Given the description of an element on the screen output the (x, y) to click on. 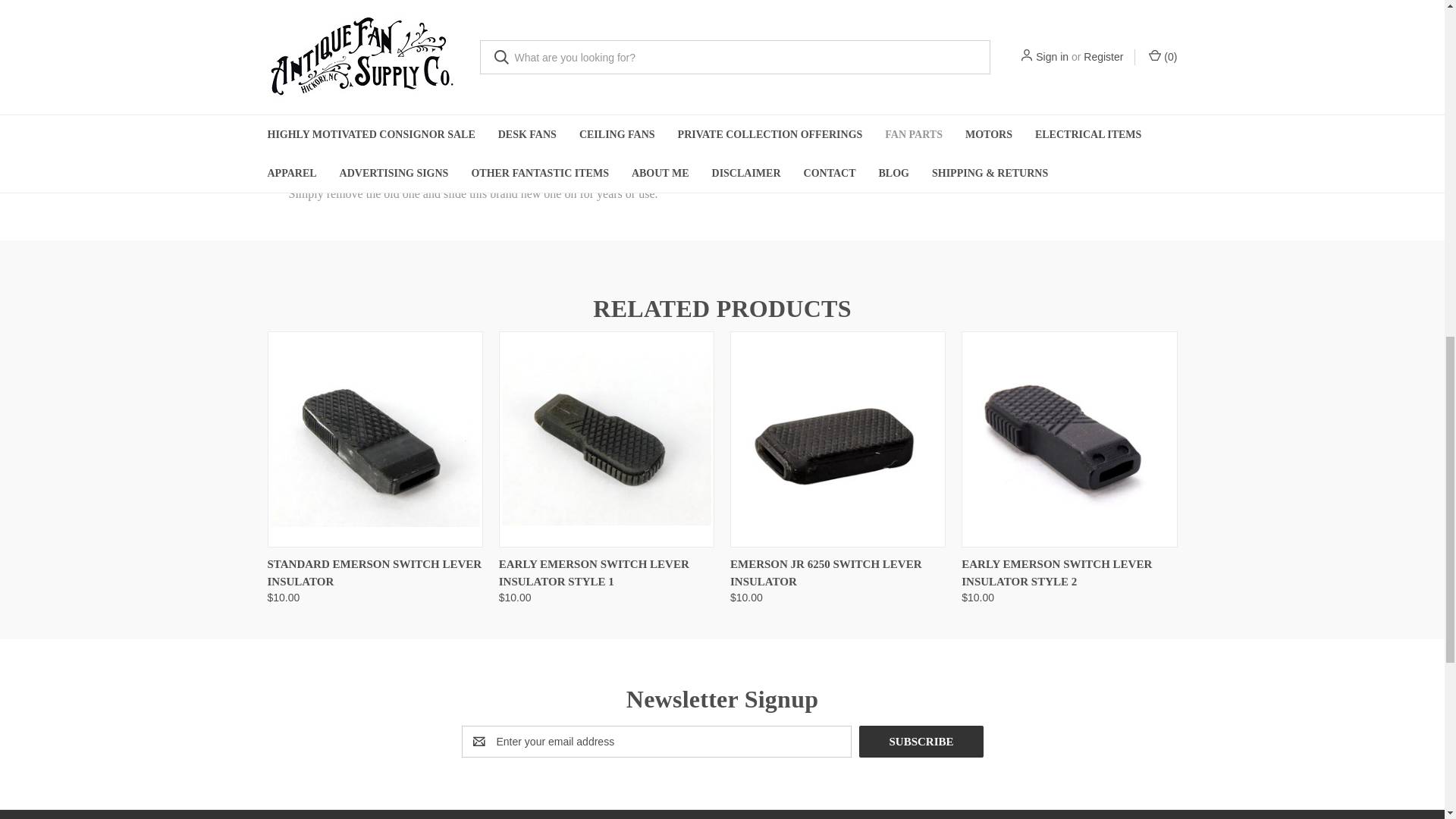
Early Emerson Switch Lever Insulator Style 1 (606, 439)
Standard Straight GE Switch Lever Insulator  (480, 32)
Early Emerson Switch Lever Insulator Style 2 (1068, 439)
Standard Emerson Switch Lever Insulator  (374, 439)
Standard Straight GE Switch Lever Insulator  (588, 32)
Emerson Jr  6250 Switch Lever Insulator  (837, 439)
Subscribe (920, 741)
